Given the description of an element on the screen output the (x, y) to click on. 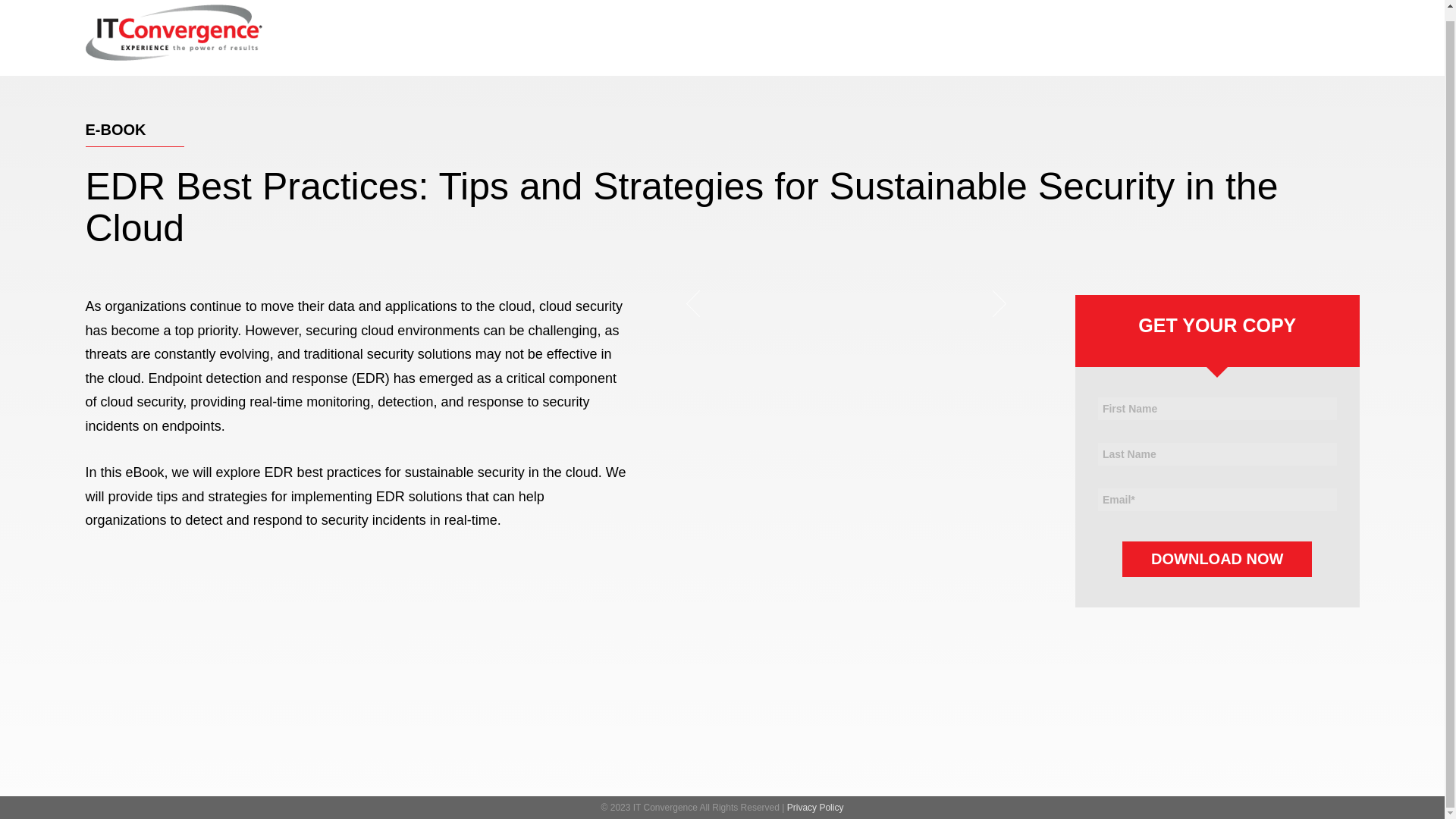
Privacy Policy (815, 807)
DOWNLOAD NOW (1216, 559)
Next (991, 301)
Privacy Policy (815, 807)
DOWNLOAD NOW (1216, 559)
ITClogo (173, 32)
Previous (697, 301)
